Given the description of an element on the screen output the (x, y) to click on. 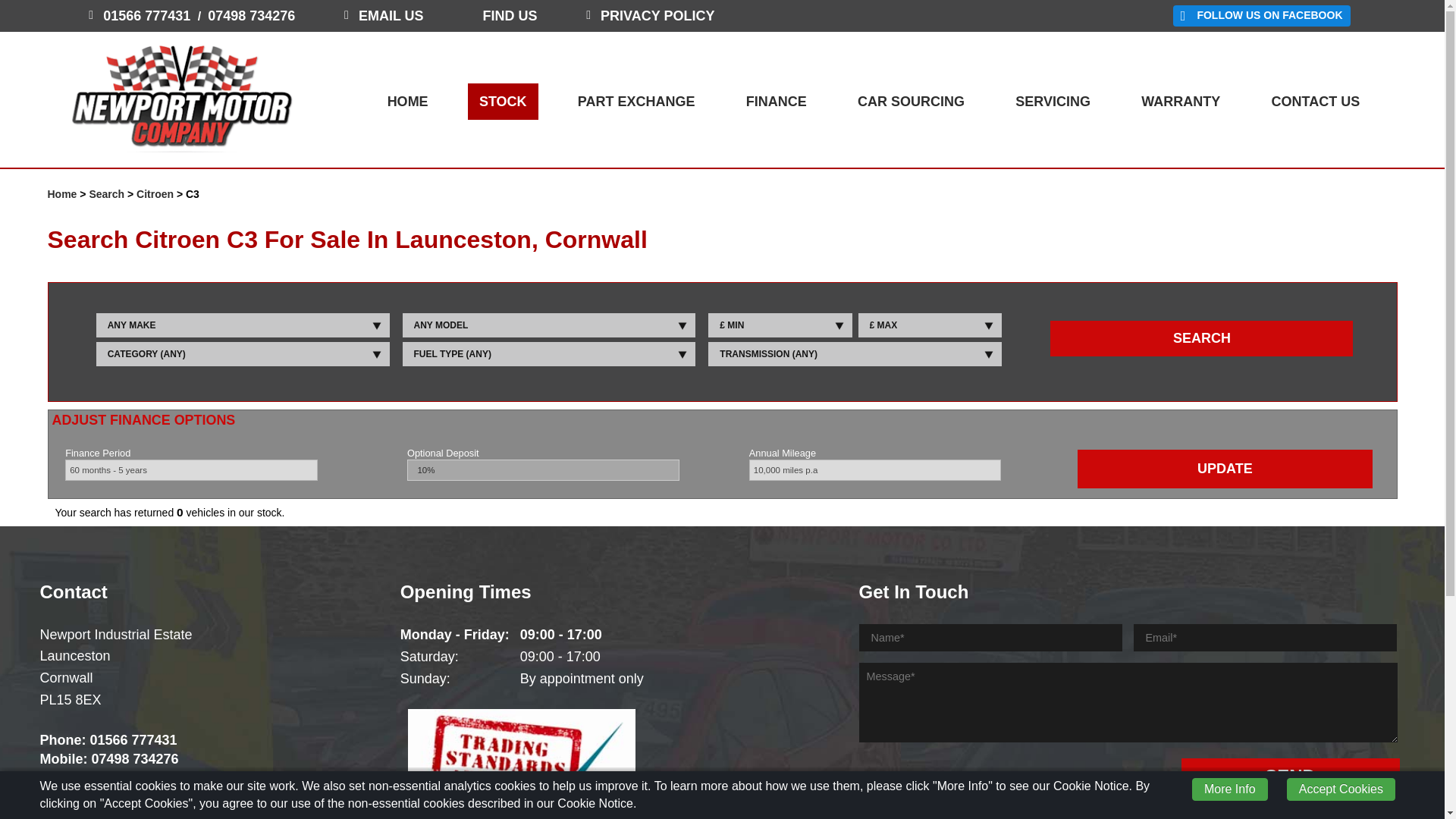
EMAIL US (390, 15)
send (1289, 776)
FIND US (504, 15)
FINANCE (776, 101)
CAR SOURCING (910, 101)
Search (105, 193)
Home (61, 193)
PART EXCHANGE (636, 101)
HOME (407, 101)
WARRANTY (1180, 101)
